Given the description of an element on the screen output the (x, y) to click on. 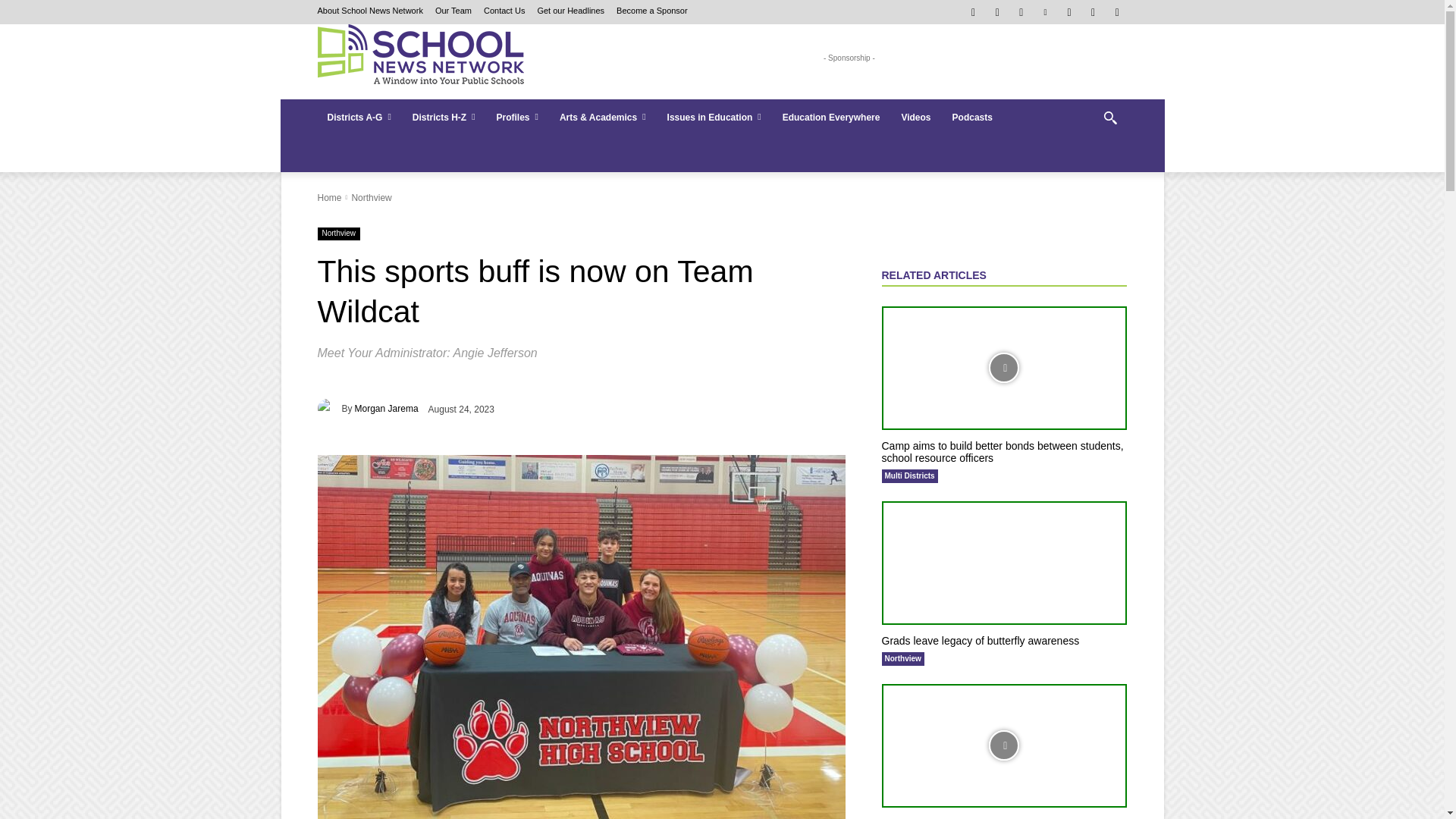
RSS (1069, 11)
Facebook (973, 11)
Mail (1021, 11)
Pinterest (1045, 11)
Instagram (997, 11)
